Given the description of an element on the screen output the (x, y) to click on. 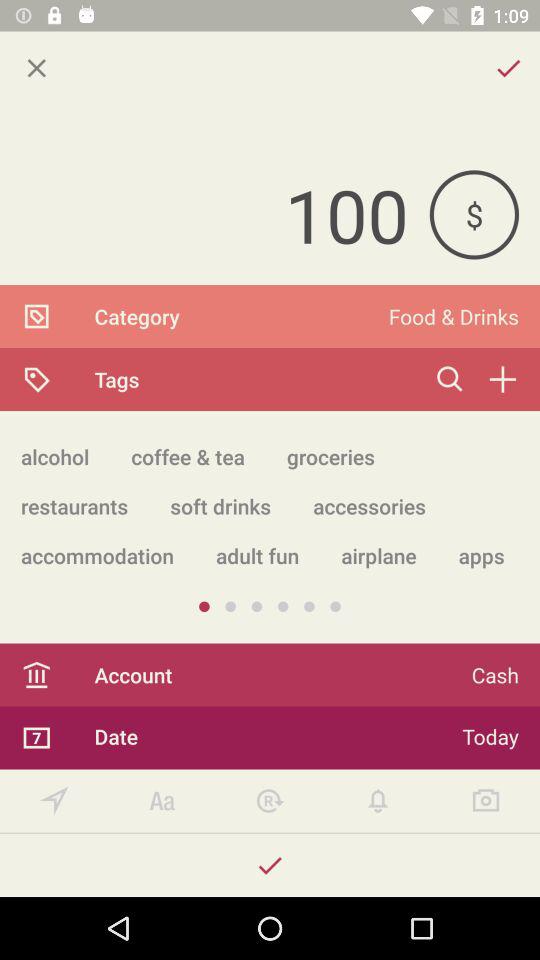
press the item next to airplane item (257, 555)
